Given the description of an element on the screen output the (x, y) to click on. 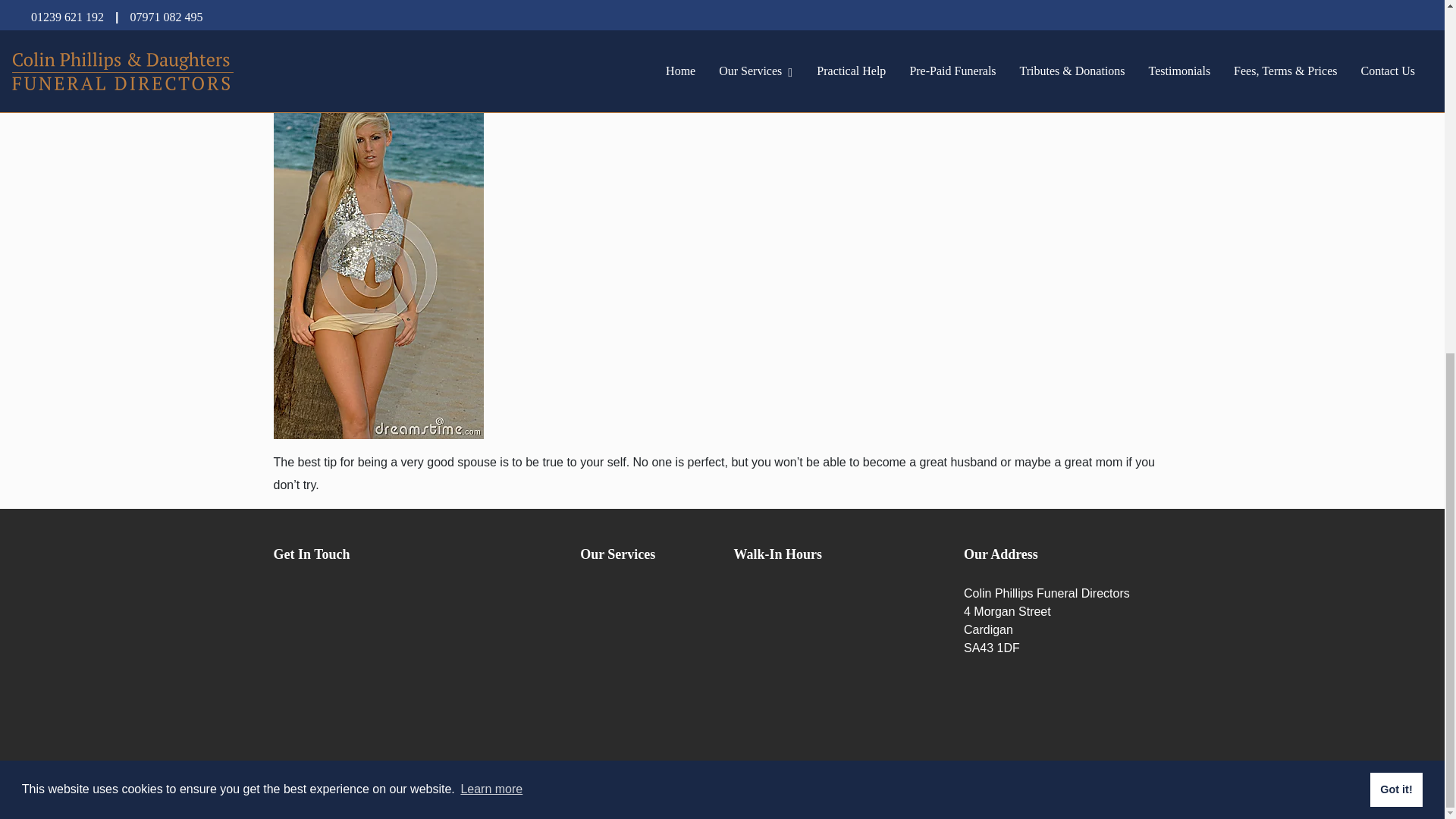
Web Design by United Studios (858, 784)
Learn more (491, 171)
Got it! (1396, 171)
